Given the description of an element on the screen output the (x, y) to click on. 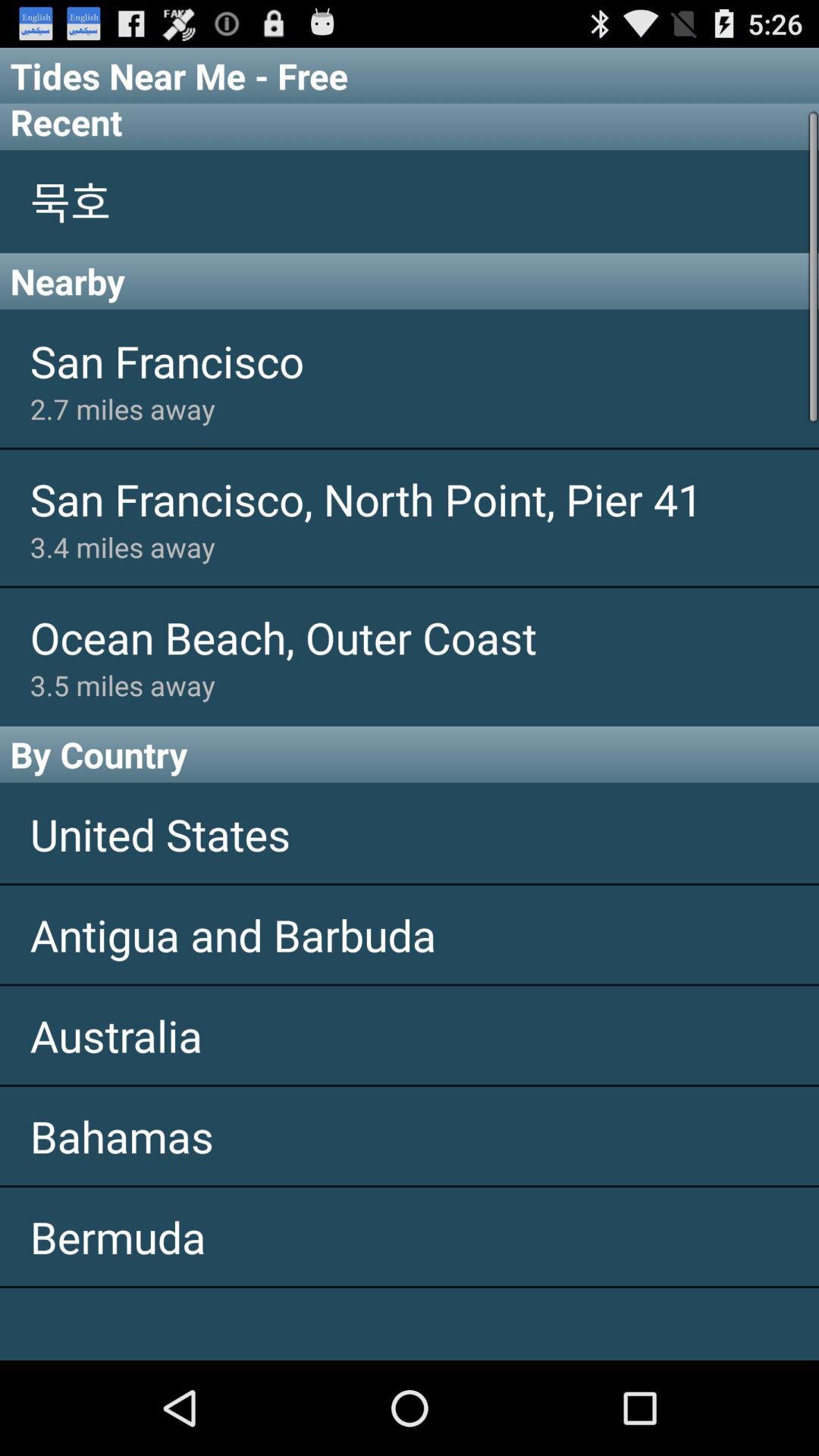
scroll until brazil icon (409, 1324)
